Given the description of an element on the screen output the (x, y) to click on. 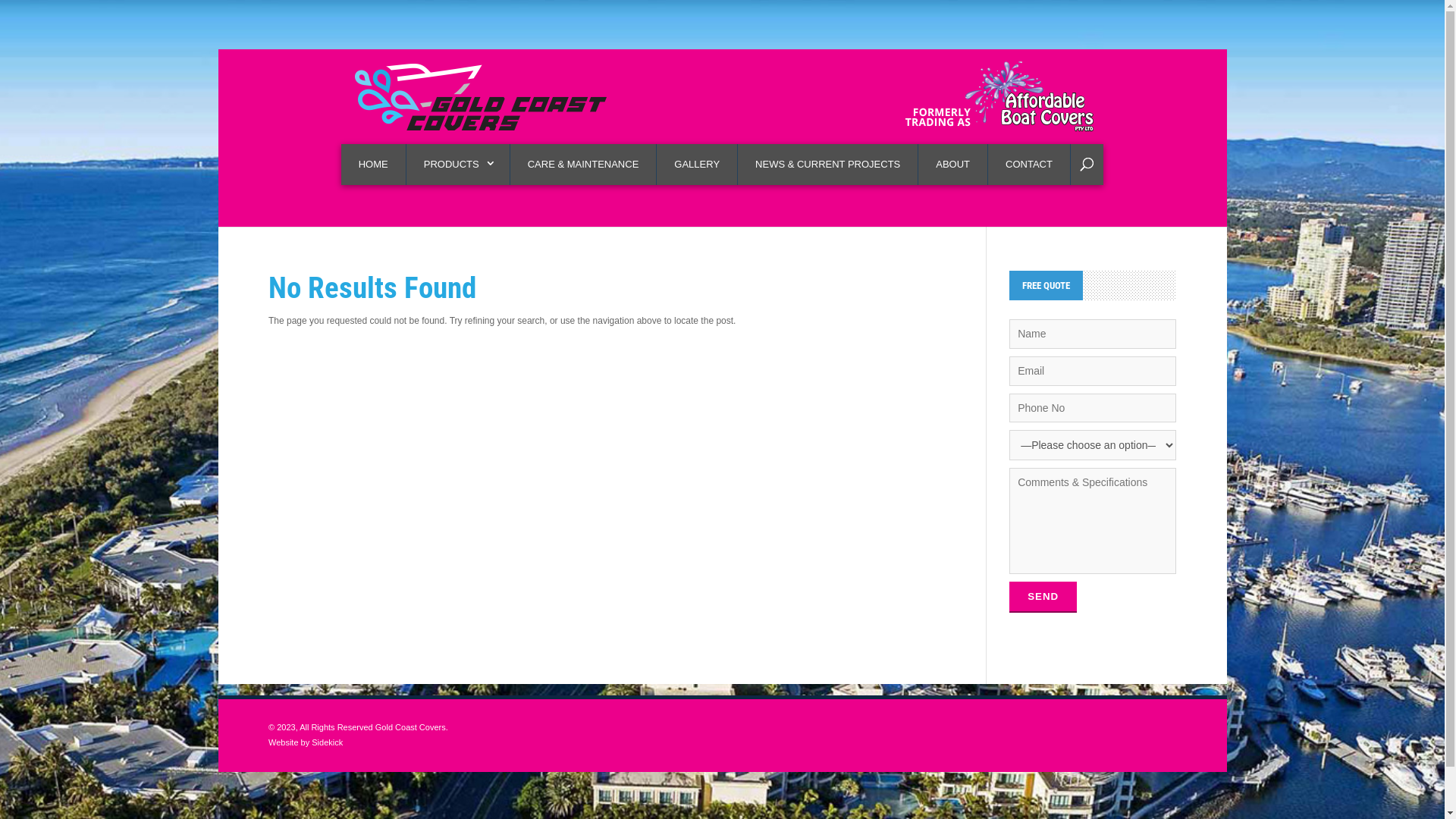
Website by Sidekick Element type: text (305, 741)
CONTACT Element type: text (1029, 164)
PRODUCTS Element type: text (458, 164)
Send Element type: text (1042, 596)
HOME Element type: text (373, 164)
NEWS & CURRENT PROJECTS Element type: text (827, 164)
ABOUT Element type: text (953, 164)
GALLERY Element type: text (696, 164)
CARE & MAINTENANCE Element type: text (583, 164)
